Given the description of an element on the screen output the (x, y) to click on. 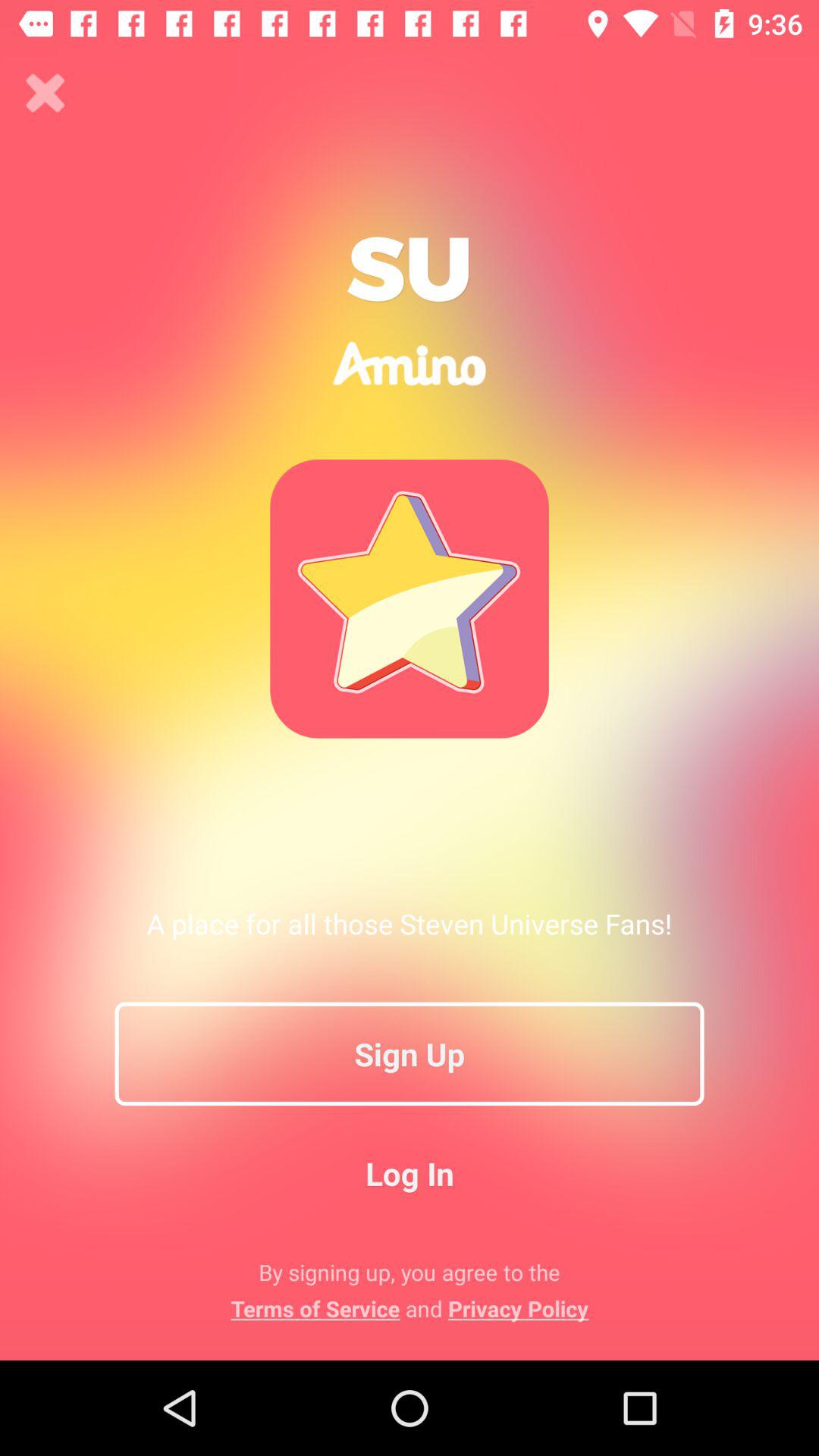
screen closing button (45, 93)
